Given the description of an element on the screen output the (x, y) to click on. 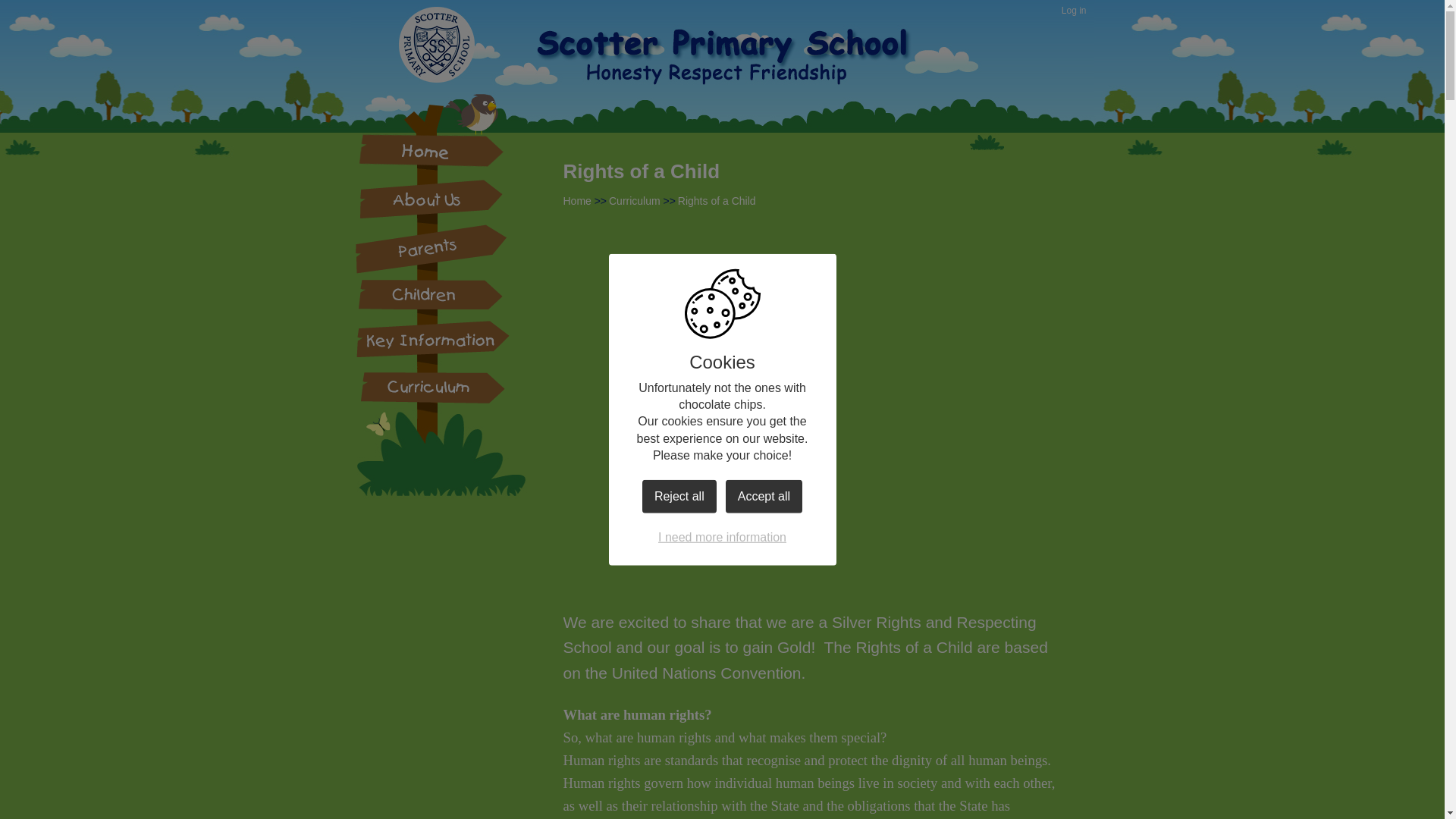
Home Page (746, 70)
Home Page (746, 70)
Log in (1073, 11)
Curriculum (634, 200)
Rights of a Child (716, 200)
Home (431, 150)
Home (576, 200)
About Us (431, 196)
